Given the description of an element on the screen output the (x, y) to click on. 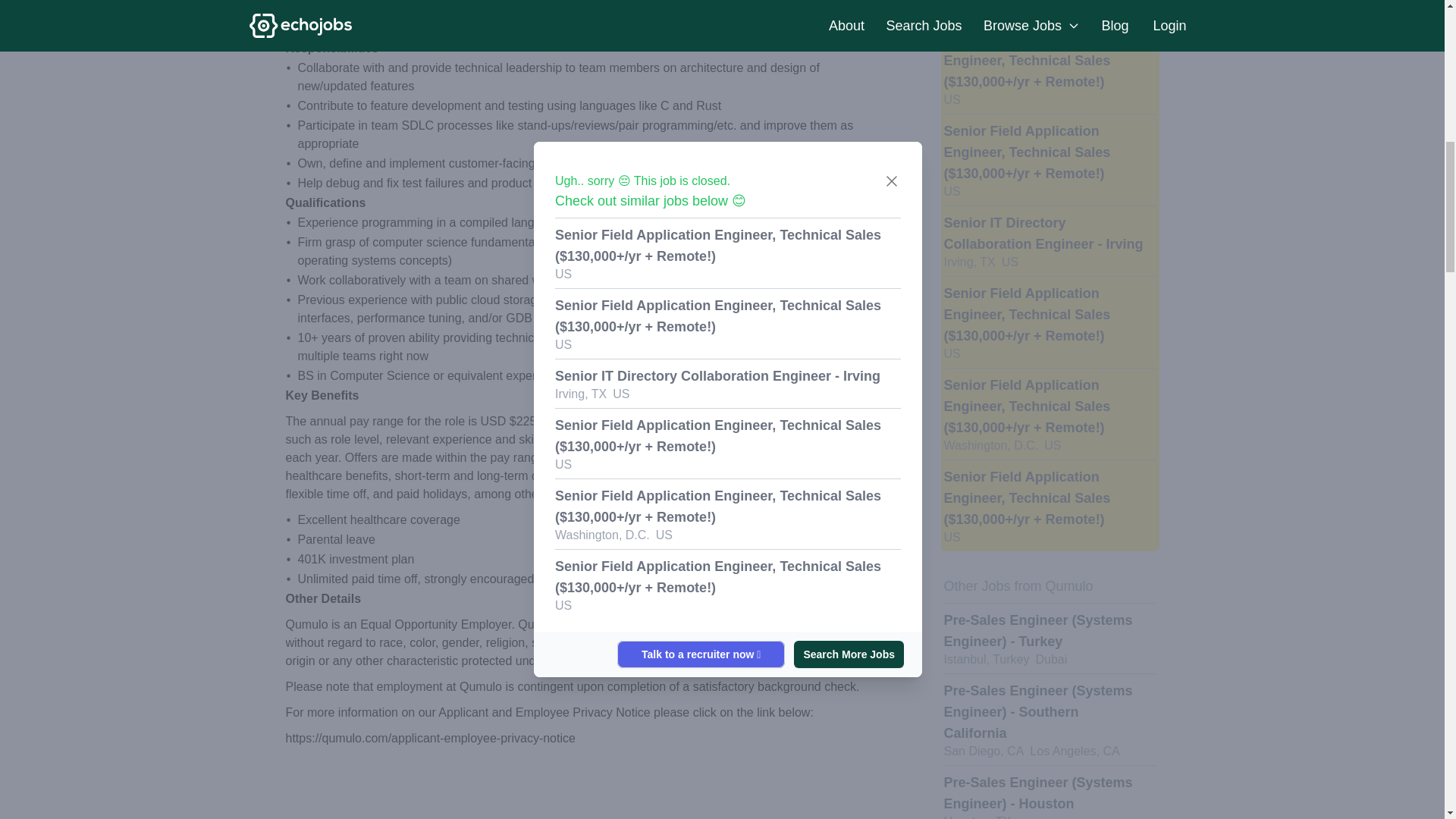
Senior IT Directory Collaboration Engineer - Irving (1042, 233)
